Given the description of an element on the screen output the (x, y) to click on. 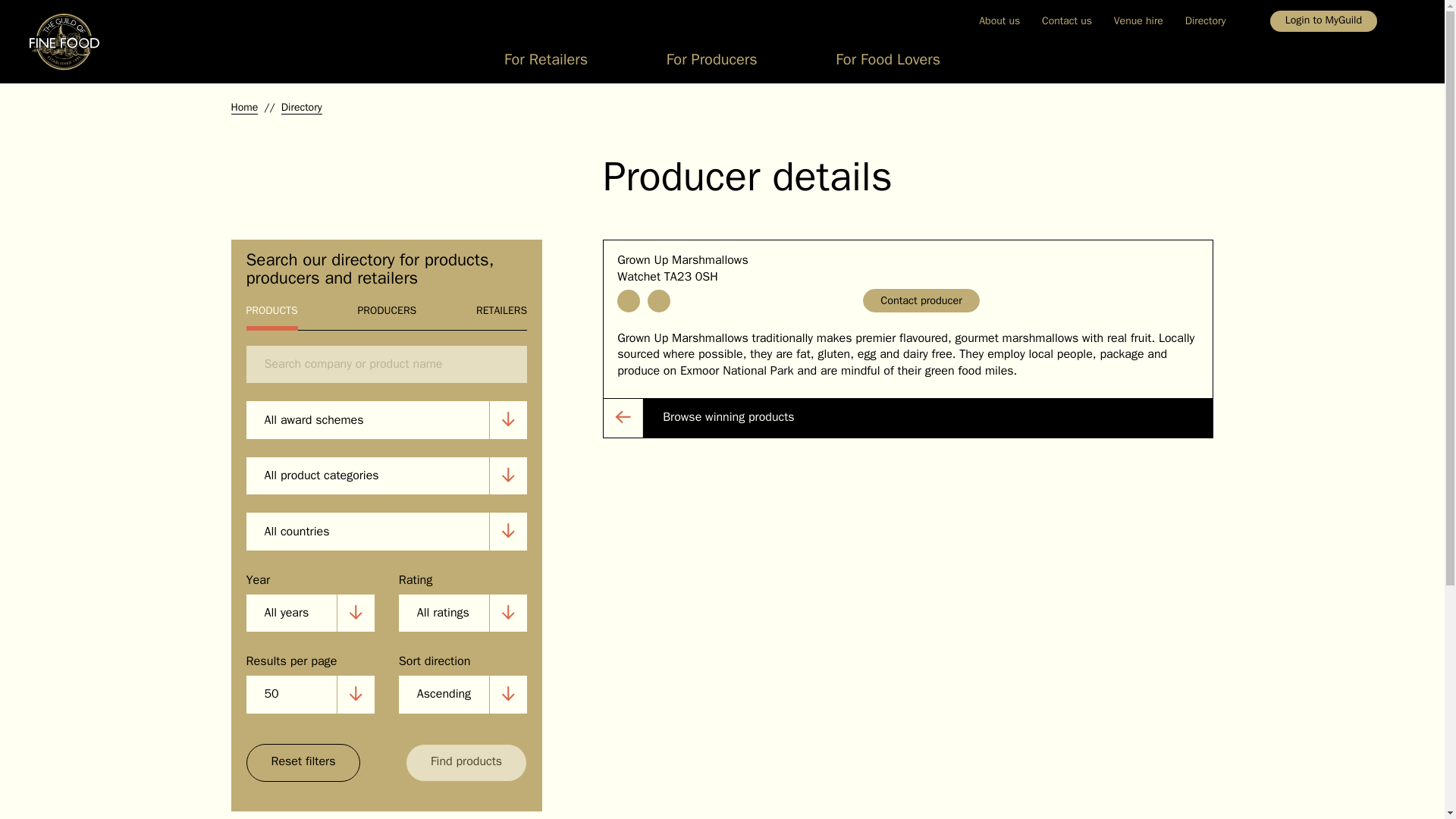
About us (999, 20)
Directory (1204, 20)
Contact us (1066, 20)
Venue hire (1137, 20)
About us (999, 20)
Contact us (1066, 20)
For Retailers (545, 63)
Venue hire (1137, 20)
Login to MyGuild (1323, 20)
For Producers (711, 63)
Directory (1204, 20)
